Given the description of an element on the screen output the (x, y) to click on. 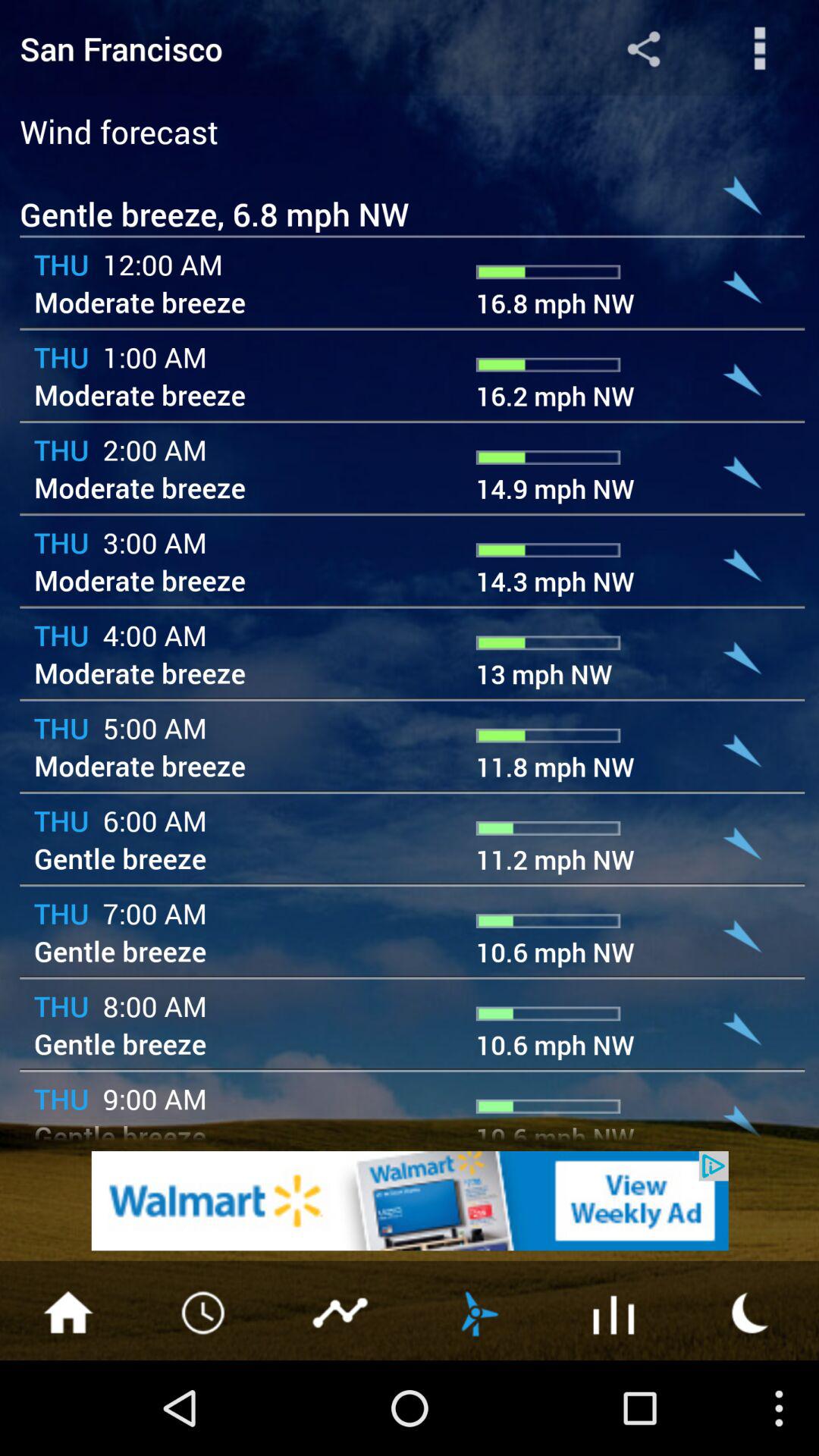
share the forecast details (643, 48)
